Given the description of an element on the screen output the (x, y) to click on. 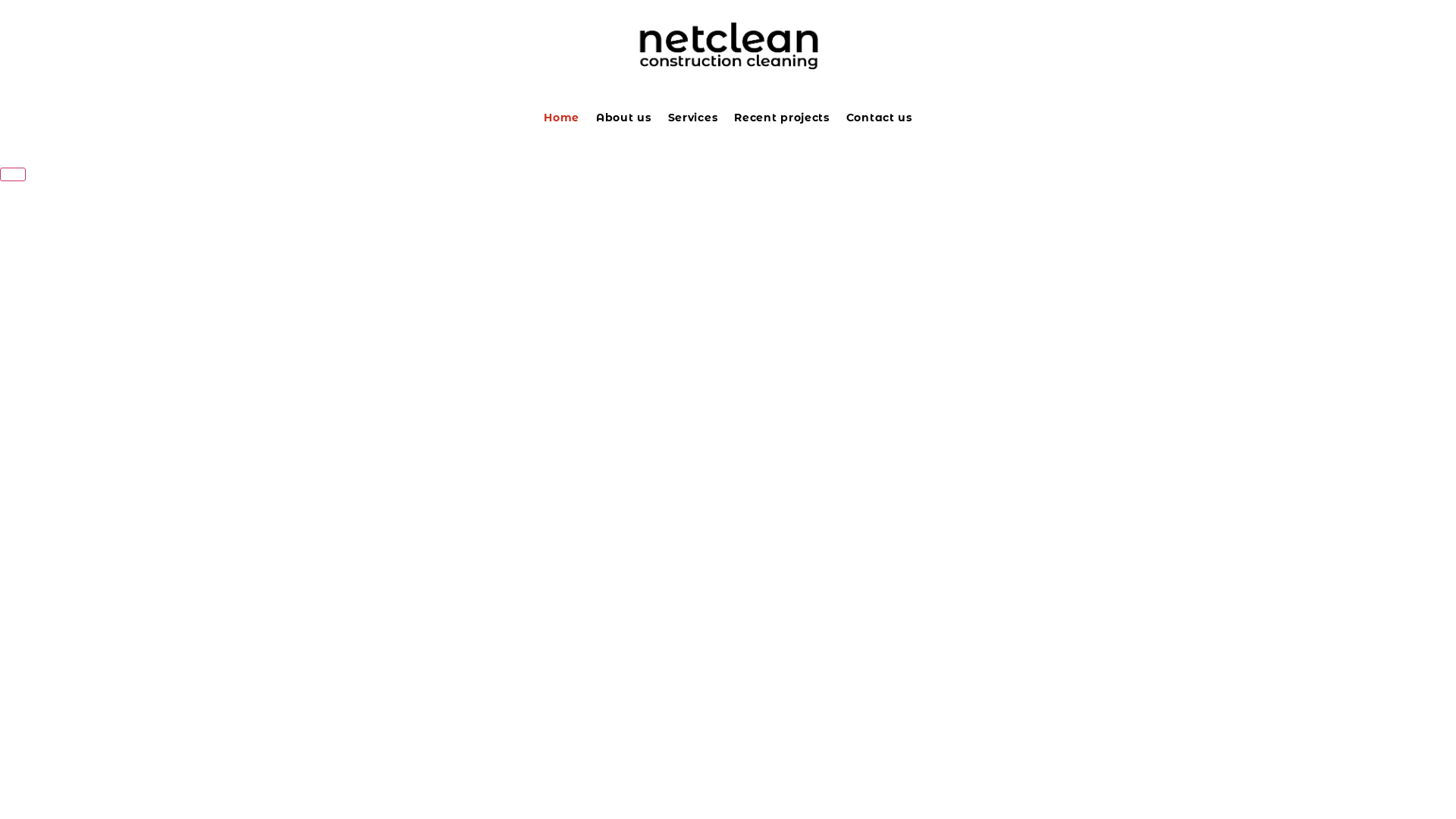
Services Element type: text (692, 117)
Recent projects Element type: text (781, 117)
Home Element type: text (561, 117)
About us Element type: text (623, 117)
Contact us Element type: text (878, 117)
